Given the description of an element on the screen output the (x, y) to click on. 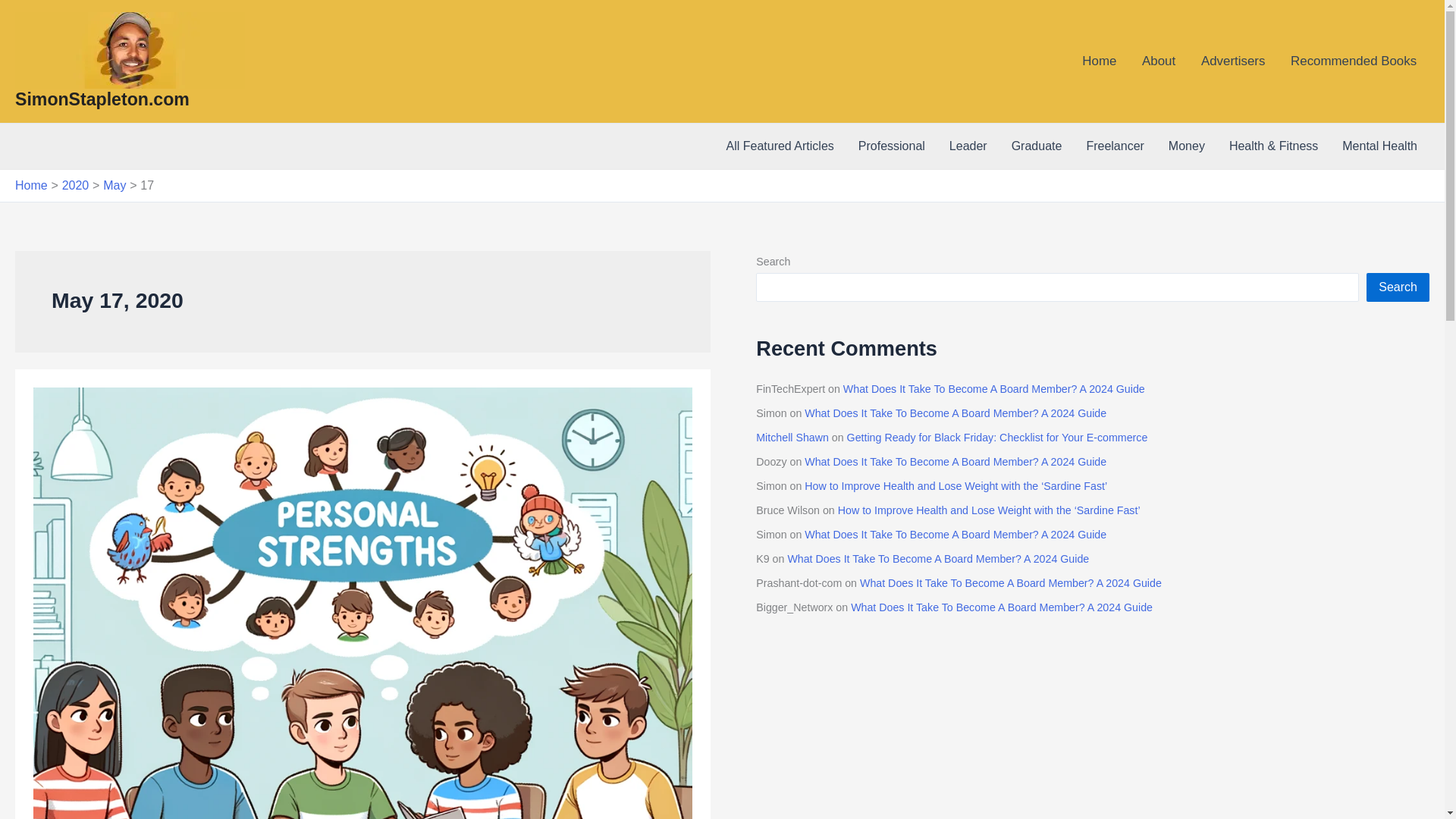
Home (1098, 61)
Graduate (1036, 145)
Money (1186, 145)
Home (31, 185)
Mental Health (1379, 145)
Leader (967, 145)
About (1158, 61)
Freelancer (1115, 145)
All Featured Articles (779, 145)
Advertisers (1233, 61)
SimonStapleton.com (101, 98)
Recommended Books (1353, 61)
2020 (75, 185)
May (114, 185)
Professional (891, 145)
